Given the description of an element on the screen output the (x, y) to click on. 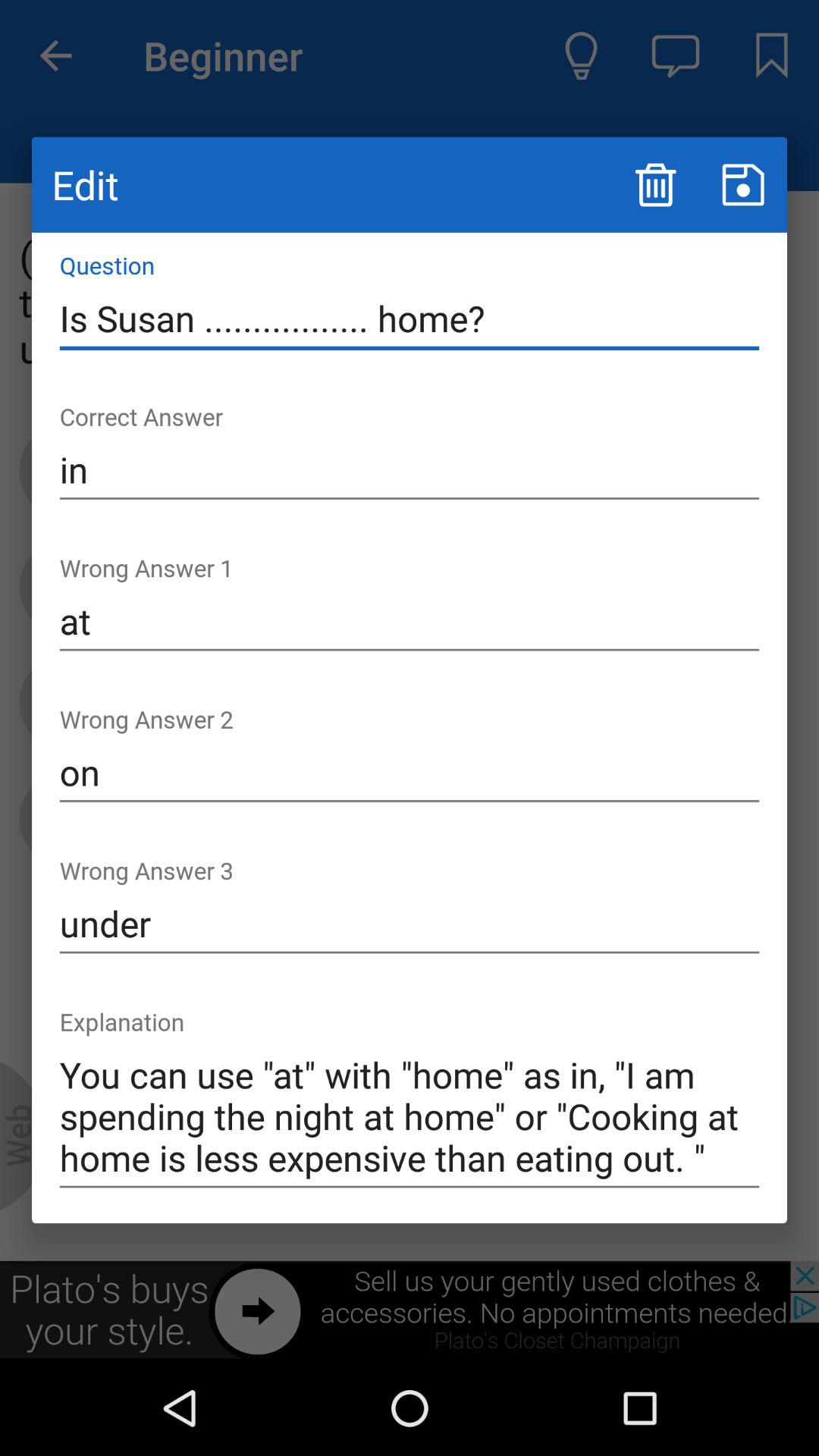
click the icon below the under (409, 1116)
